Given the description of an element on the screen output the (x, y) to click on. 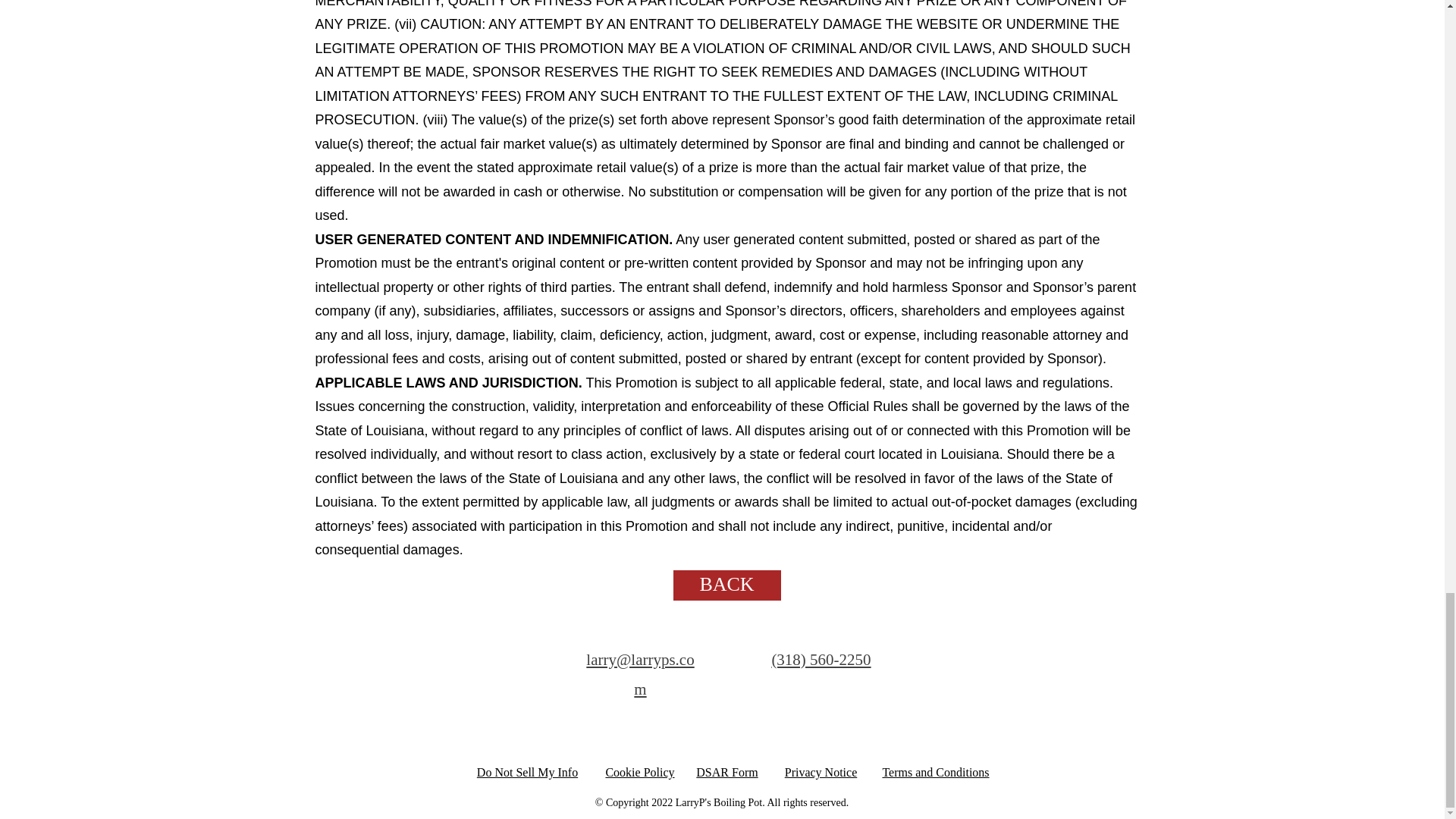
Do Not Sell My Info (527, 771)
Terms and Conditions (935, 771)
Cookie Policy (639, 771)
DSAR Form (726, 771)
BACK (726, 584)
Privacy Notice (820, 771)
